Given the description of an element on the screen output the (x, y) to click on. 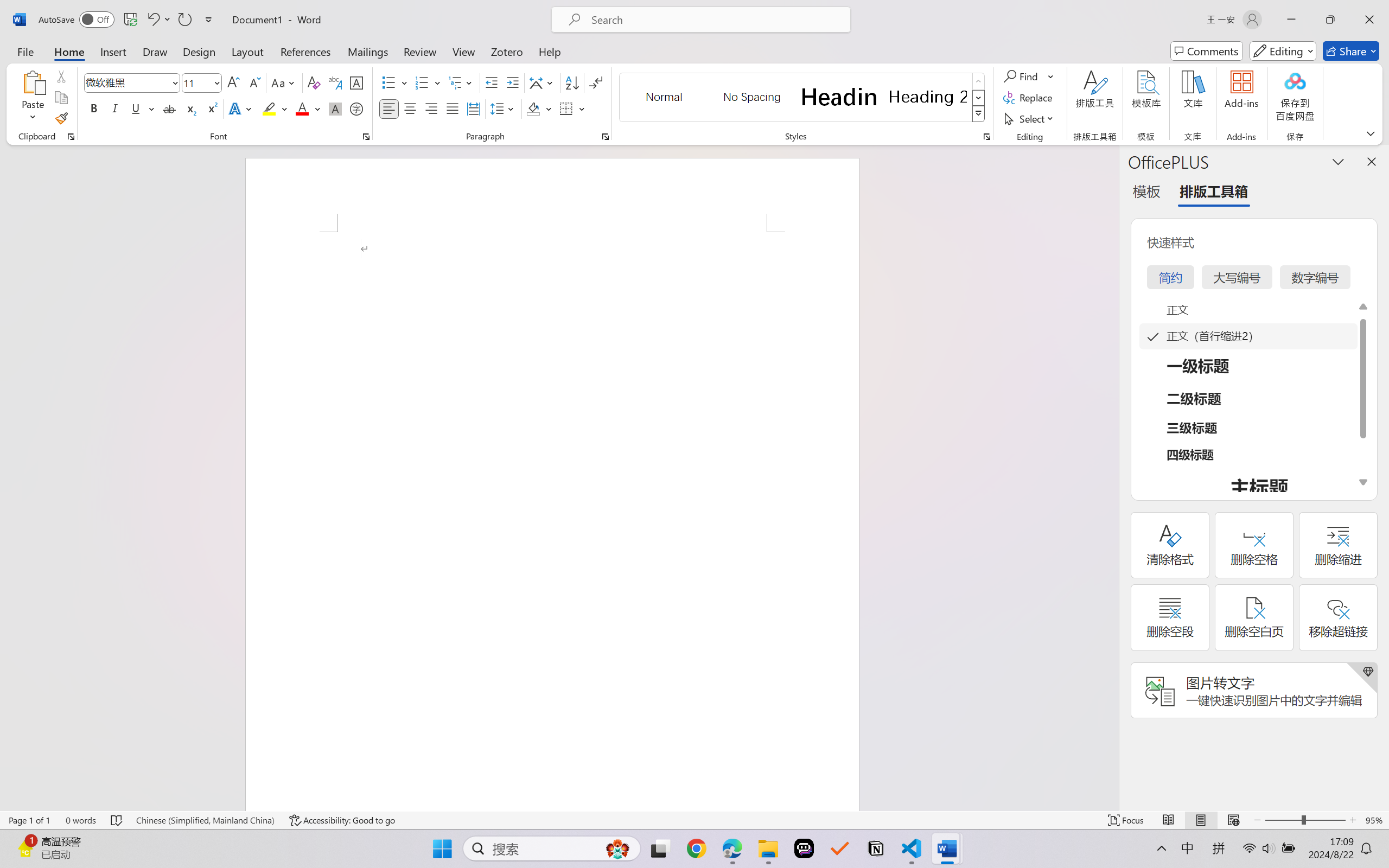
Zoom 95% (1374, 819)
Class: MsoCommandBar (694, 819)
